Given the description of an element on the screen output the (x, y) to click on. 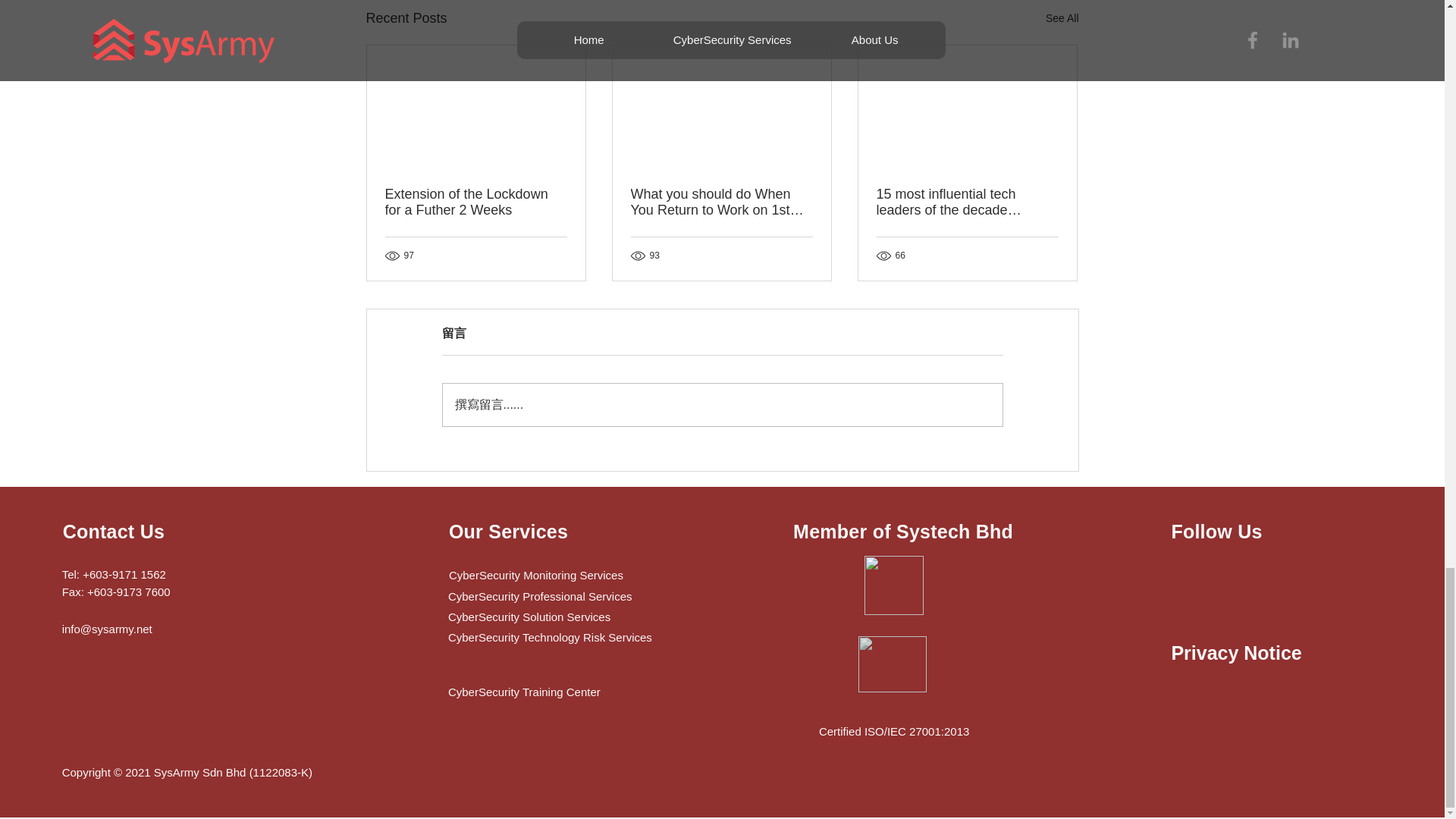
CyberSecurity Professional Services (564, 596)
CyberSecurity Training Center (555, 691)
CyberSecurity Solution Services (555, 616)
Certified-Management-System-E.png (892, 664)
Privacy Notice (1240, 653)
CyberSecurity Technology Risk Services (577, 636)
msc.png (893, 585)
CyberSecurity Monitoring Services (561, 574)
What you should do When You Return to Work on 1st April 2020 (721, 202)
Extension of the Lockdown for a Futher 2 Weeks (476, 202)
See All (1061, 18)
